Given the description of an element on the screen output the (x, y) to click on. 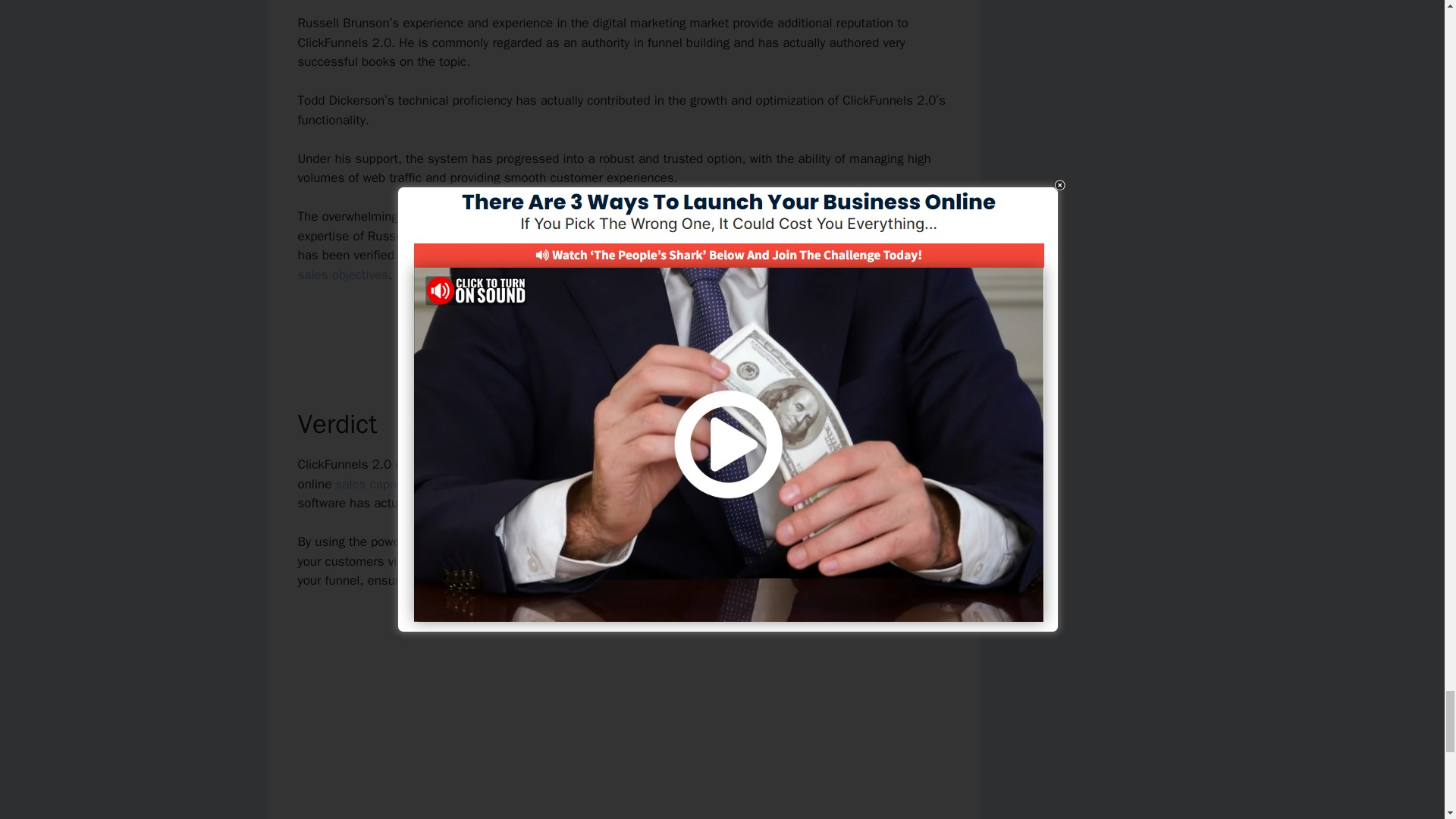
sales capacity (374, 483)
sales objectives (342, 274)
Click Here To Try Out ClickFunnels 2.0 (623, 327)
